Given the description of an element on the screen output the (x, y) to click on. 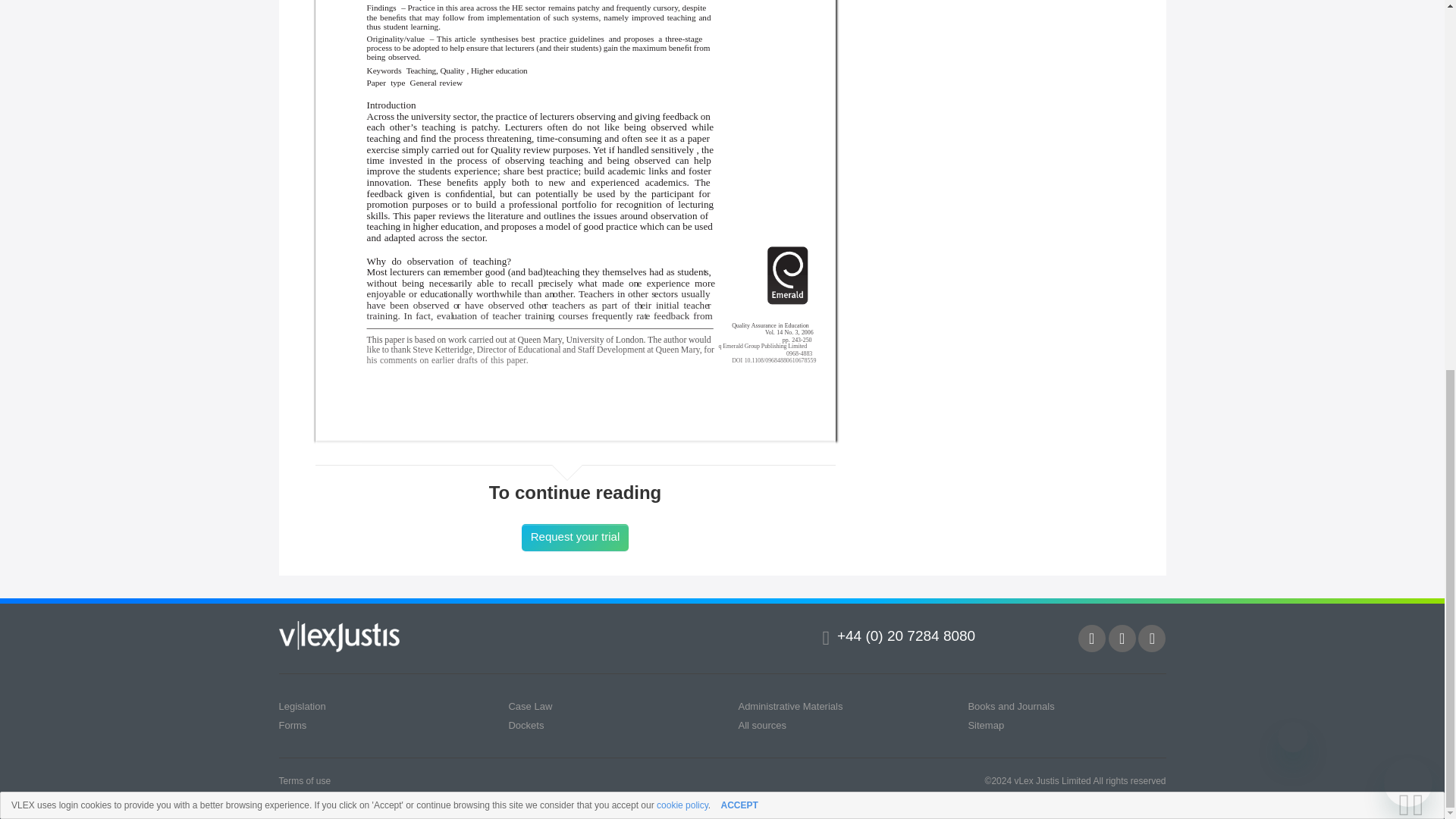
Close message (1292, 66)
Legislation (302, 706)
Books and Journals (1011, 706)
Administrative Materials (790, 706)
Case Law (529, 706)
Terms of use (305, 780)
Forms (293, 725)
Case Law (529, 706)
Sitemap (986, 725)
CLOSE (1422, 134)
Dockets (525, 725)
All sources (762, 725)
Legislation (302, 706)
All sources (762, 725)
vLex (339, 636)
